Given the description of an element on the screen output the (x, y) to click on. 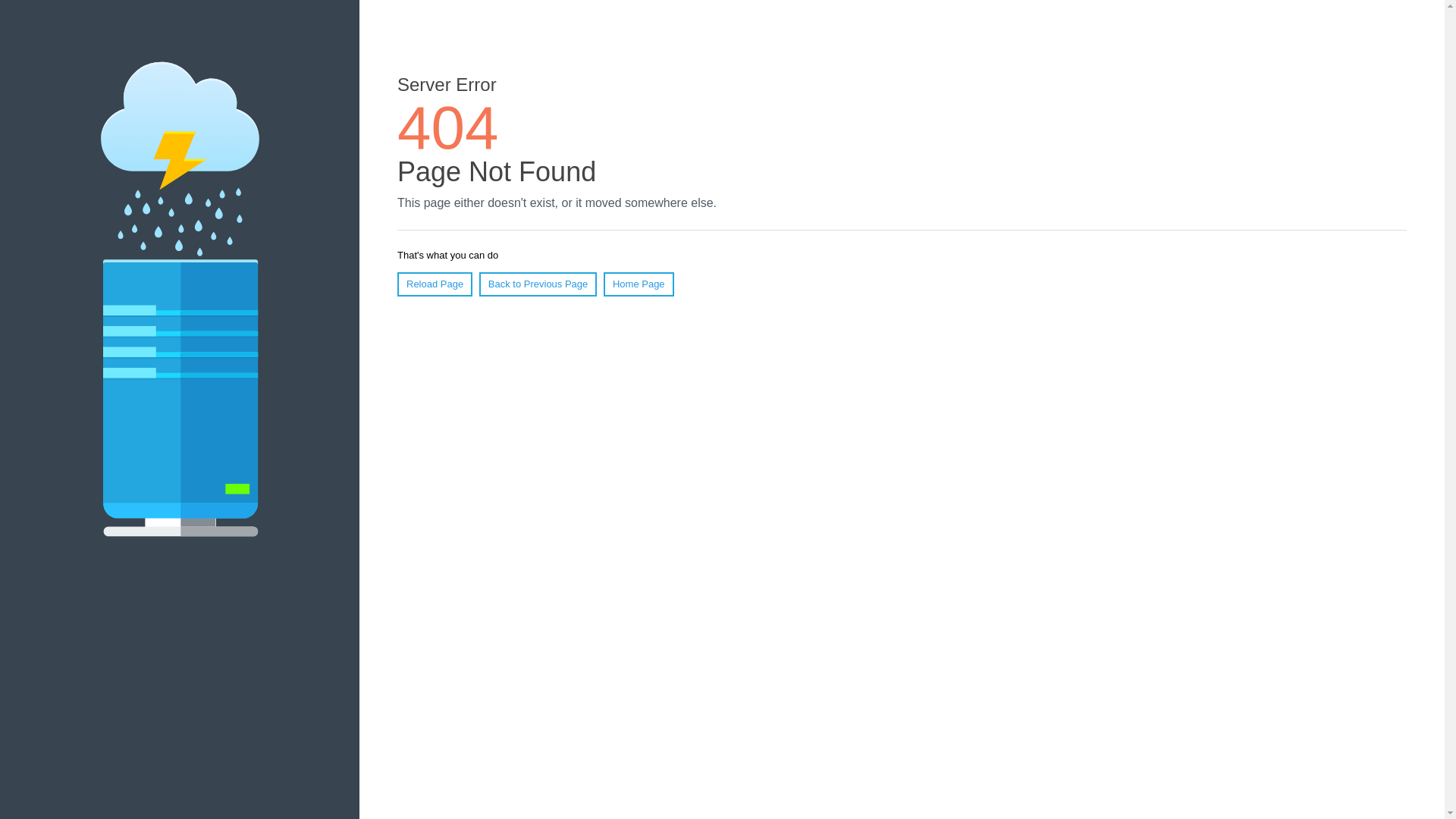
Back to Previous Page Element type: text (538, 284)
Reload Page Element type: text (434, 284)
Home Page Element type: text (638, 284)
